Given the description of an element on the screen output the (x, y) to click on. 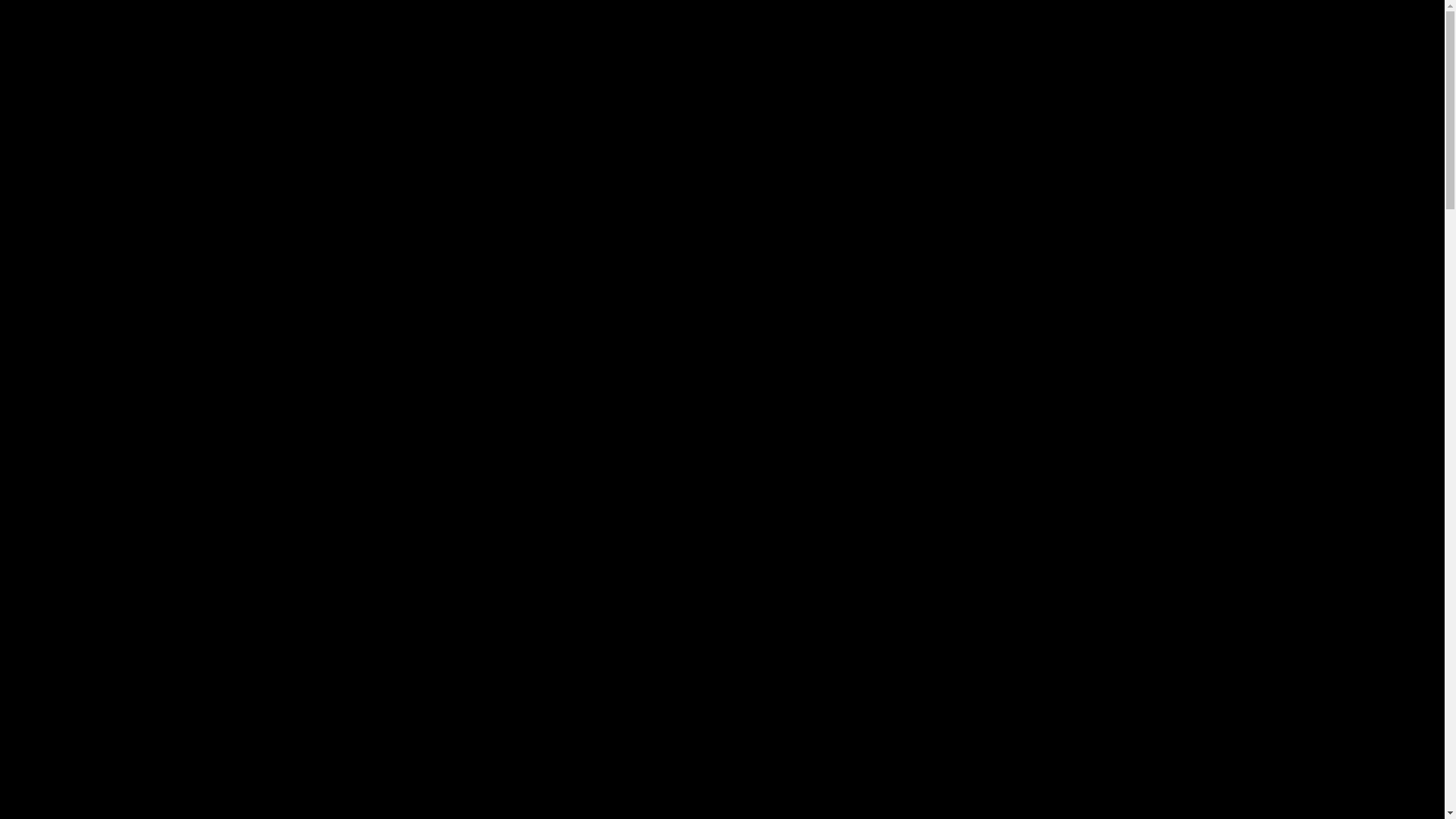
Home Element type: text (50, 66)
Contact Element type: text (55, 80)
Verkoopsvoorwaarden Element type: text (90, 93)
Toggle navigation Element type: text (51, 13)
